Given the description of an element on the screen output the (x, y) to click on. 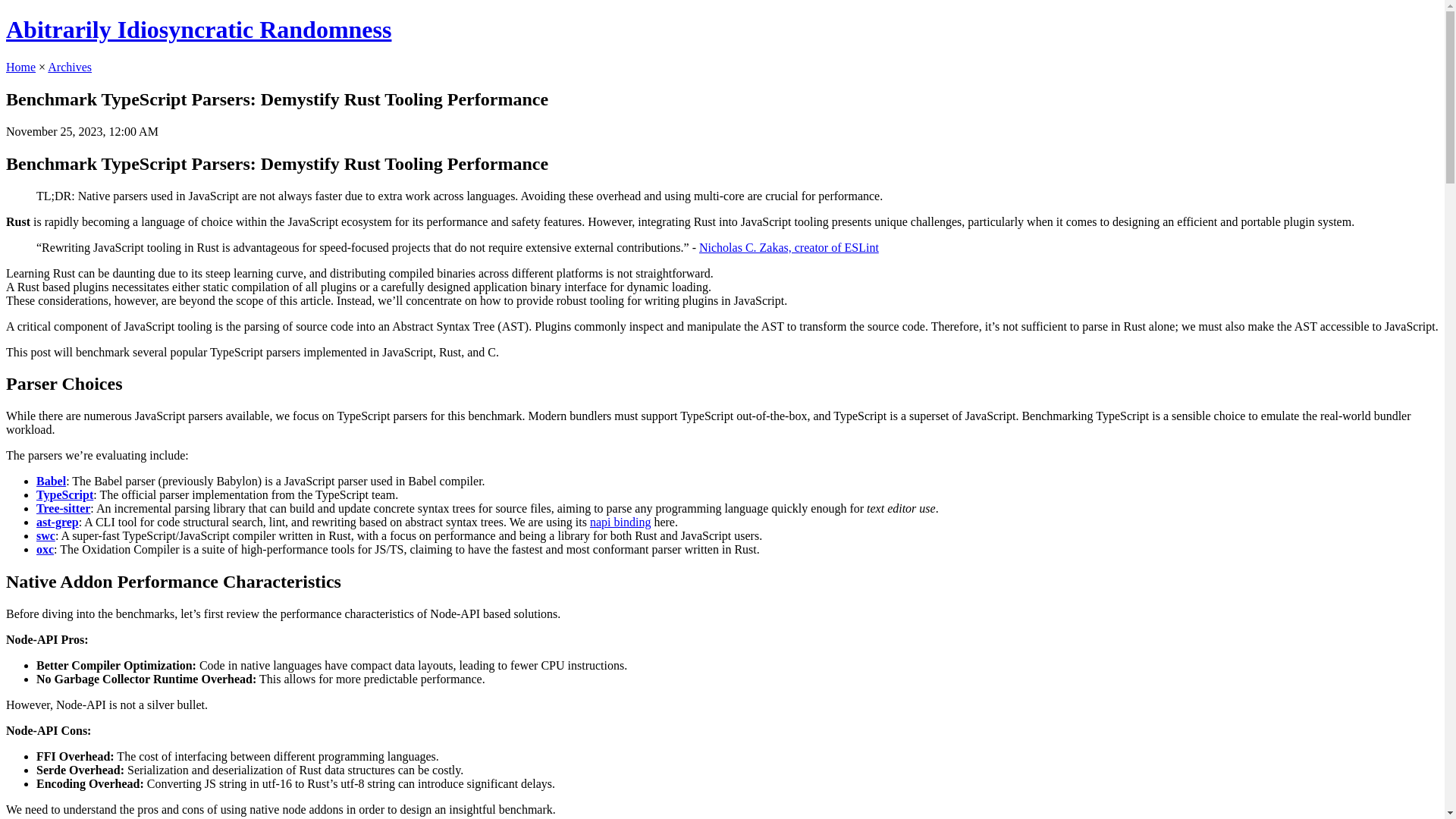
Nicholas C. Zakas, creator of ESLint (788, 246)
swc (45, 535)
ast-grep (57, 521)
oxc (44, 549)
Abitrarily Idiosyncratic Randomness (198, 29)
Tree-sitter (63, 508)
napi binding (619, 521)
Archives (69, 66)
Home (19, 66)
Babel (50, 481)
